Given the description of an element on the screen output the (x, y) to click on. 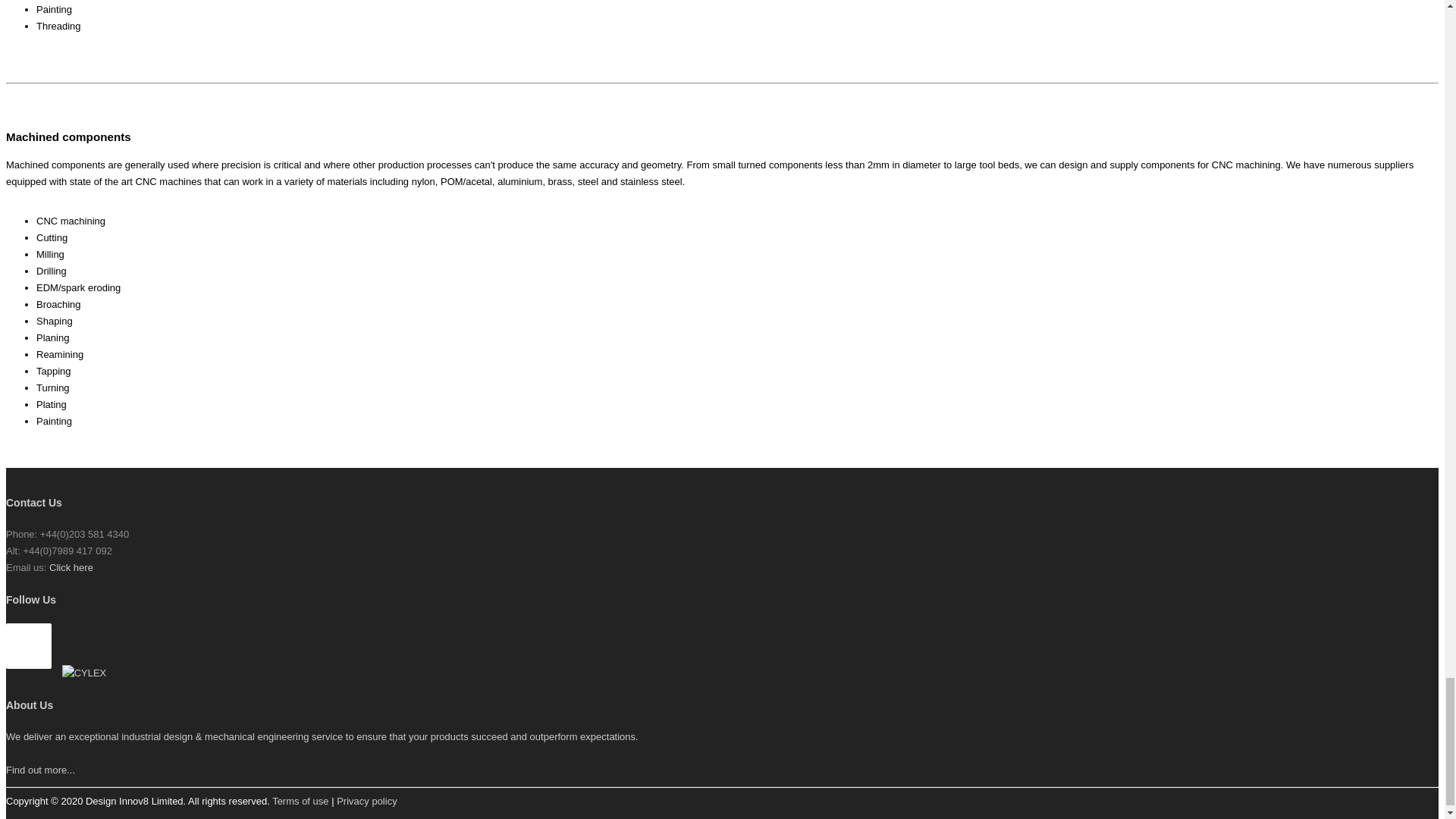
Email us (71, 567)
Design Innov8 Limited (84, 673)
